Given the description of an element on the screen output the (x, y) to click on. 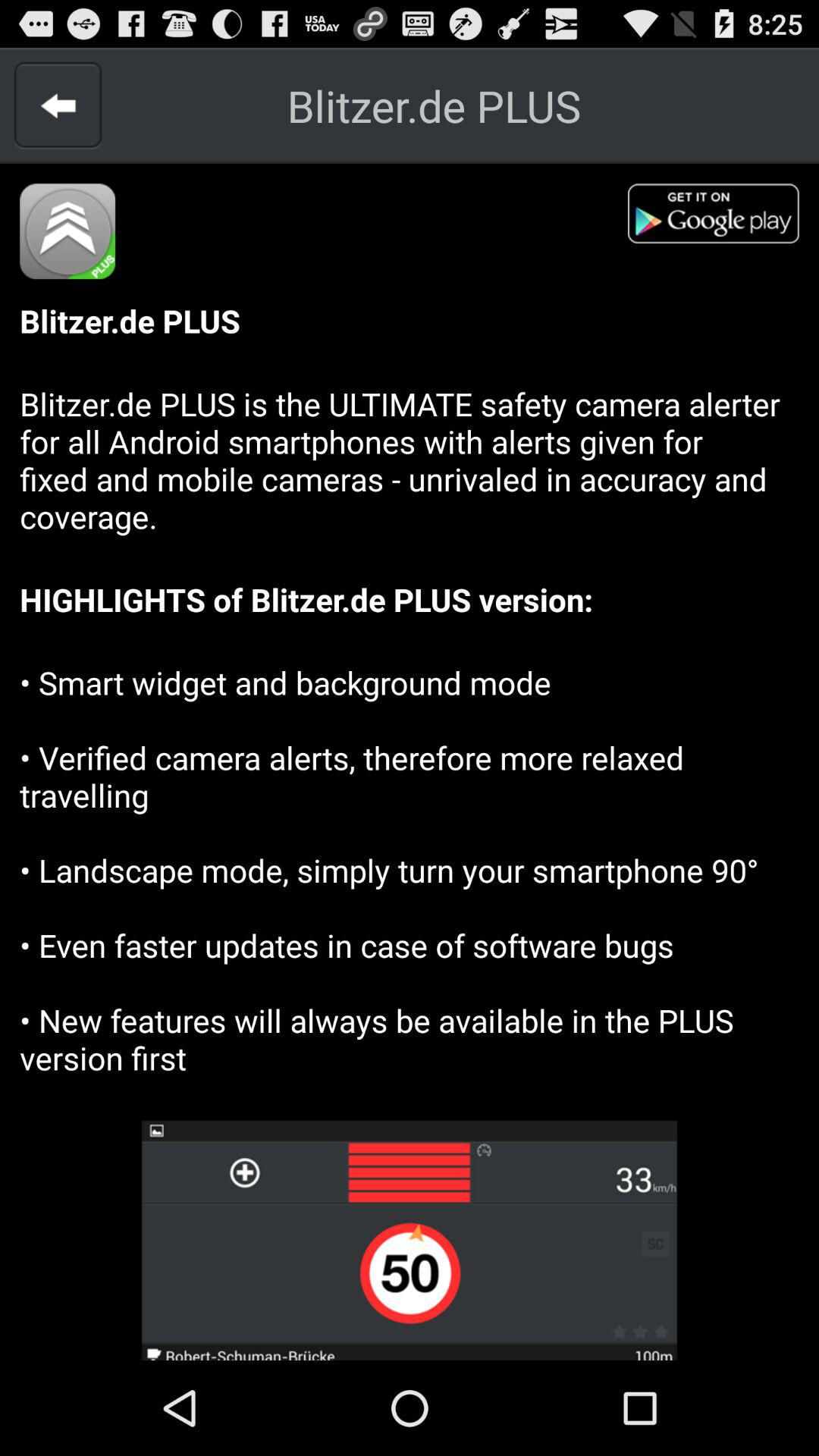
go to google play (723, 218)
